Given the description of an element on the screen output the (x, y) to click on. 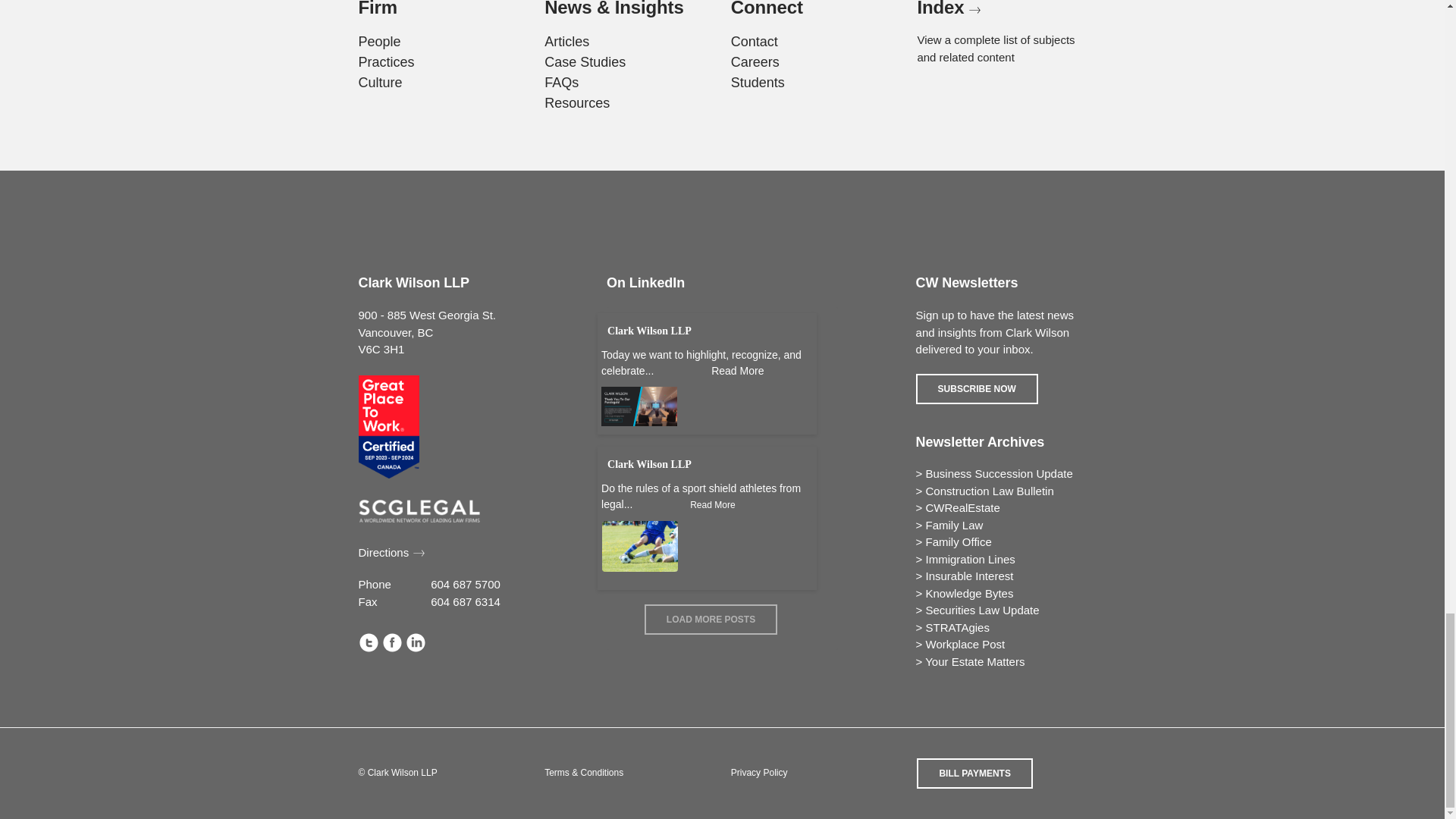
Clark Wilson LLP (649, 464)
Case Studies (585, 61)
FAQs (561, 82)
Articles (566, 41)
Practices (385, 61)
Culture (379, 82)
People (379, 41)
Clark Wilson LLP (649, 330)
